Given the description of an element on the screen output the (x, y) to click on. 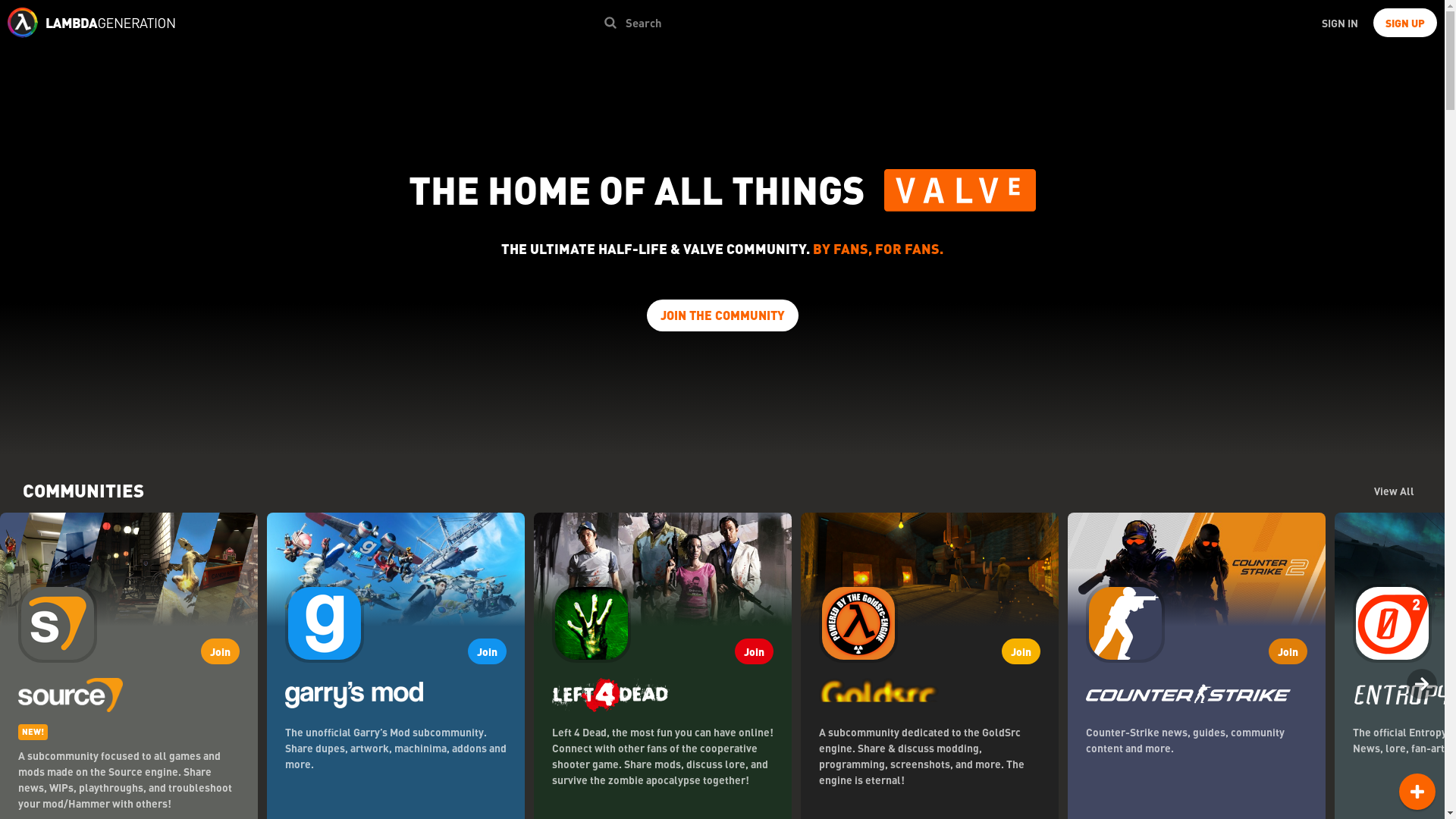
SIGN UP (1405, 22)
JOIN THE COMMUNITY (721, 315)
SIGN IN (1339, 22)
View All (1394, 490)
